Given the description of an element on the screen output the (x, y) to click on. 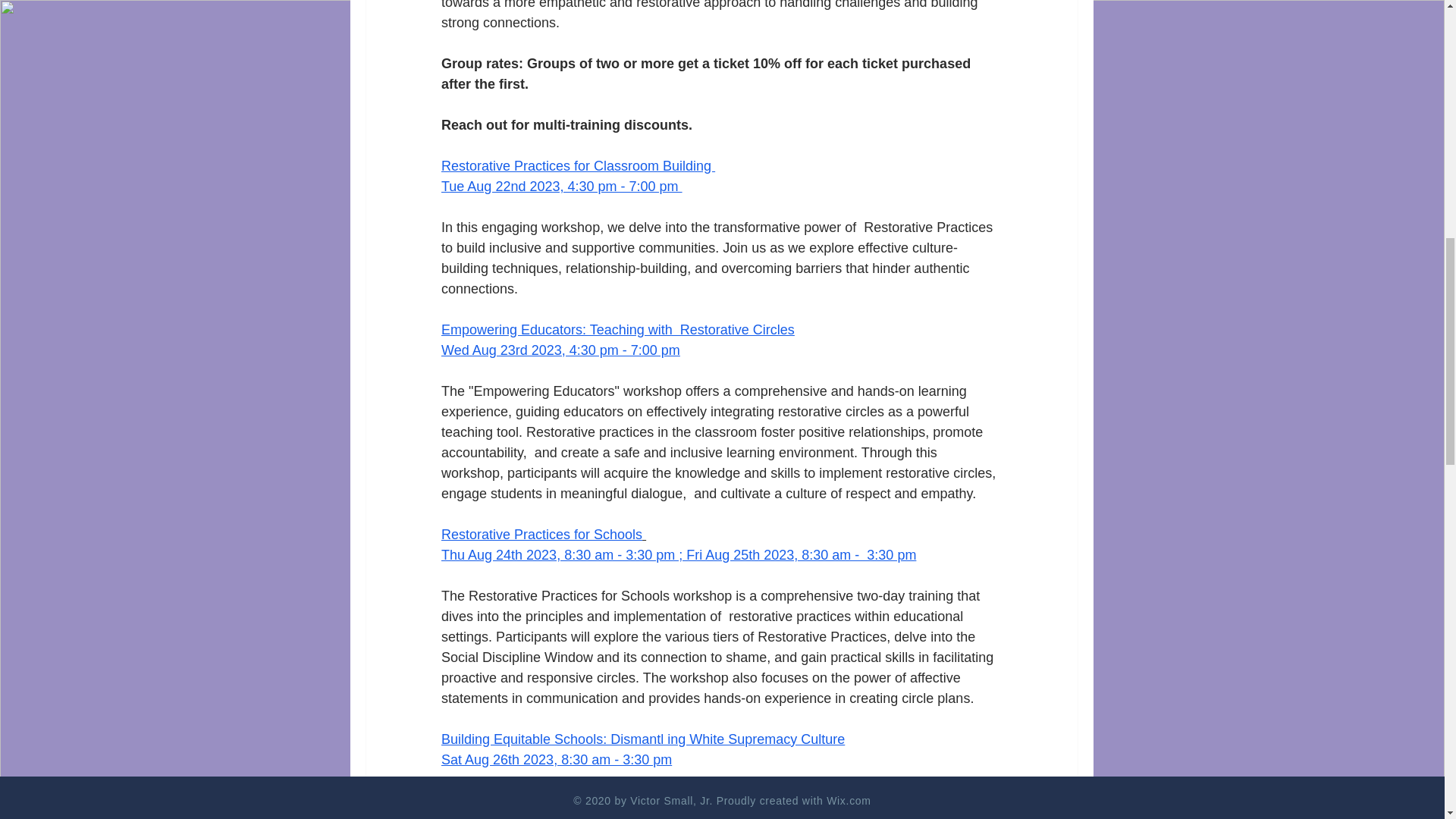
Sat Aug 26th 2023, 8:30 am - 3:30 pm (556, 759)
Wed Aug 23rd 2023, 4:30 pm - 7:00 pm (560, 350)
Empowering Educators: Teaching with  Restorative Circles (617, 329)
Tue Aug 22nd 2023, 4:30 pm - 7:00 pm  (561, 186)
Restorative Practices for Schools (541, 534)
Restorative Practices for Classroom Building  (577, 165)
